Given the description of an element on the screen output the (x, y) to click on. 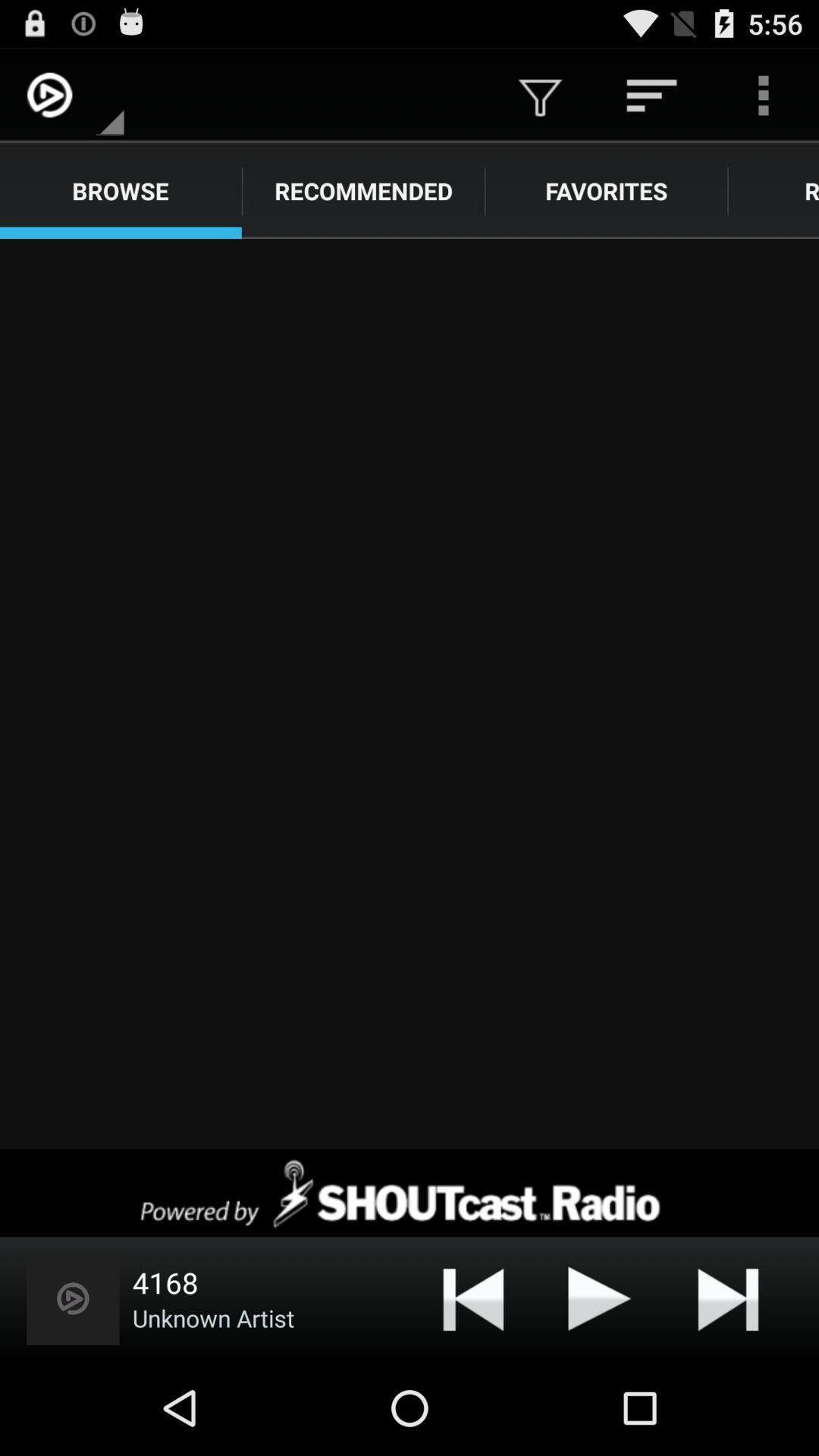
press the icon above favorites item (651, 95)
